Given the description of an element on the screen output the (x, y) to click on. 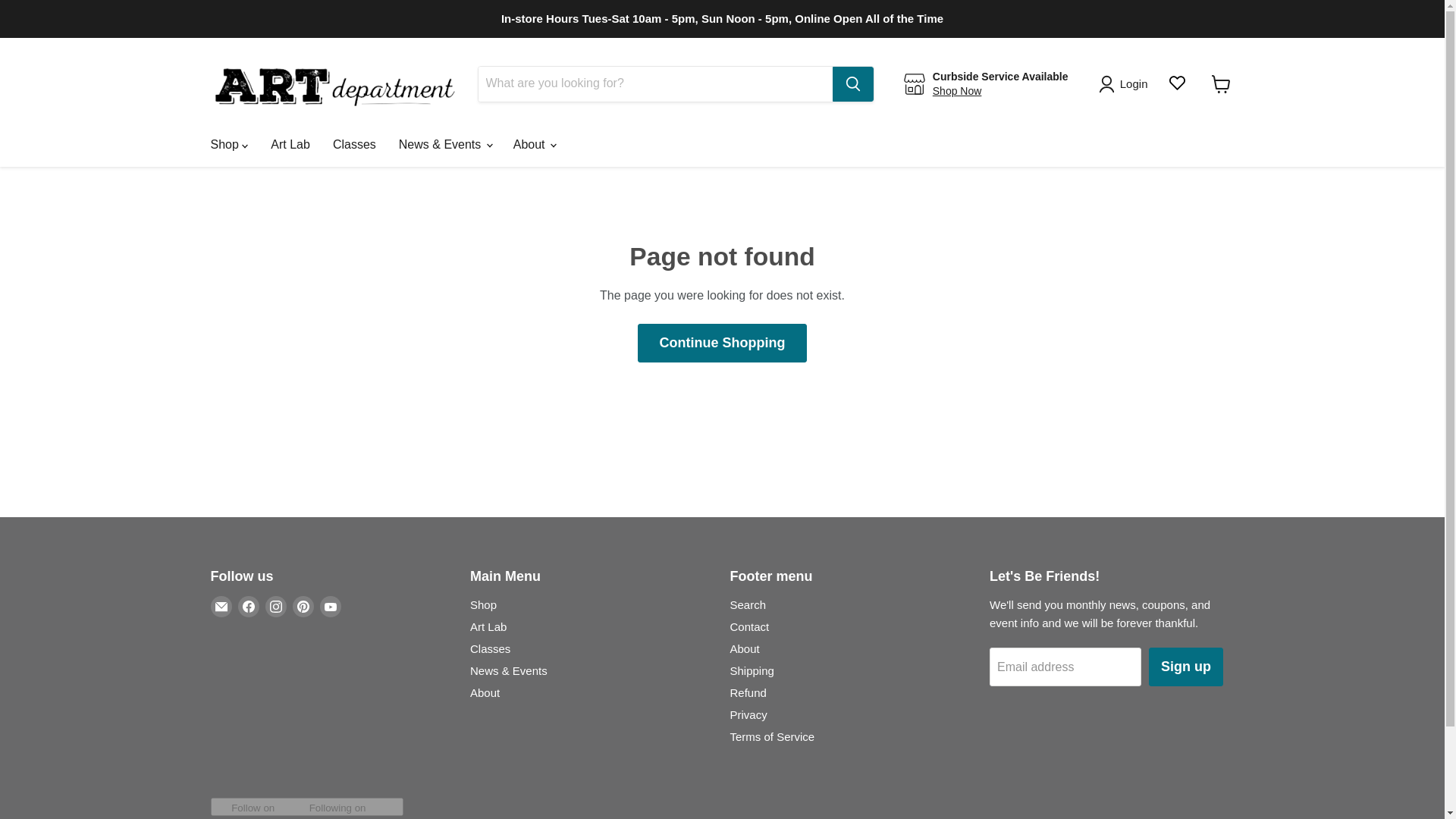
YouTube (330, 606)
Login (1125, 84)
Facebook (248, 606)
Shop Now (957, 91)
Pinterest (303, 606)
Email (221, 606)
Instagram (275, 606)
View cart (1221, 82)
